Given the description of an element on the screen output the (x, y) to click on. 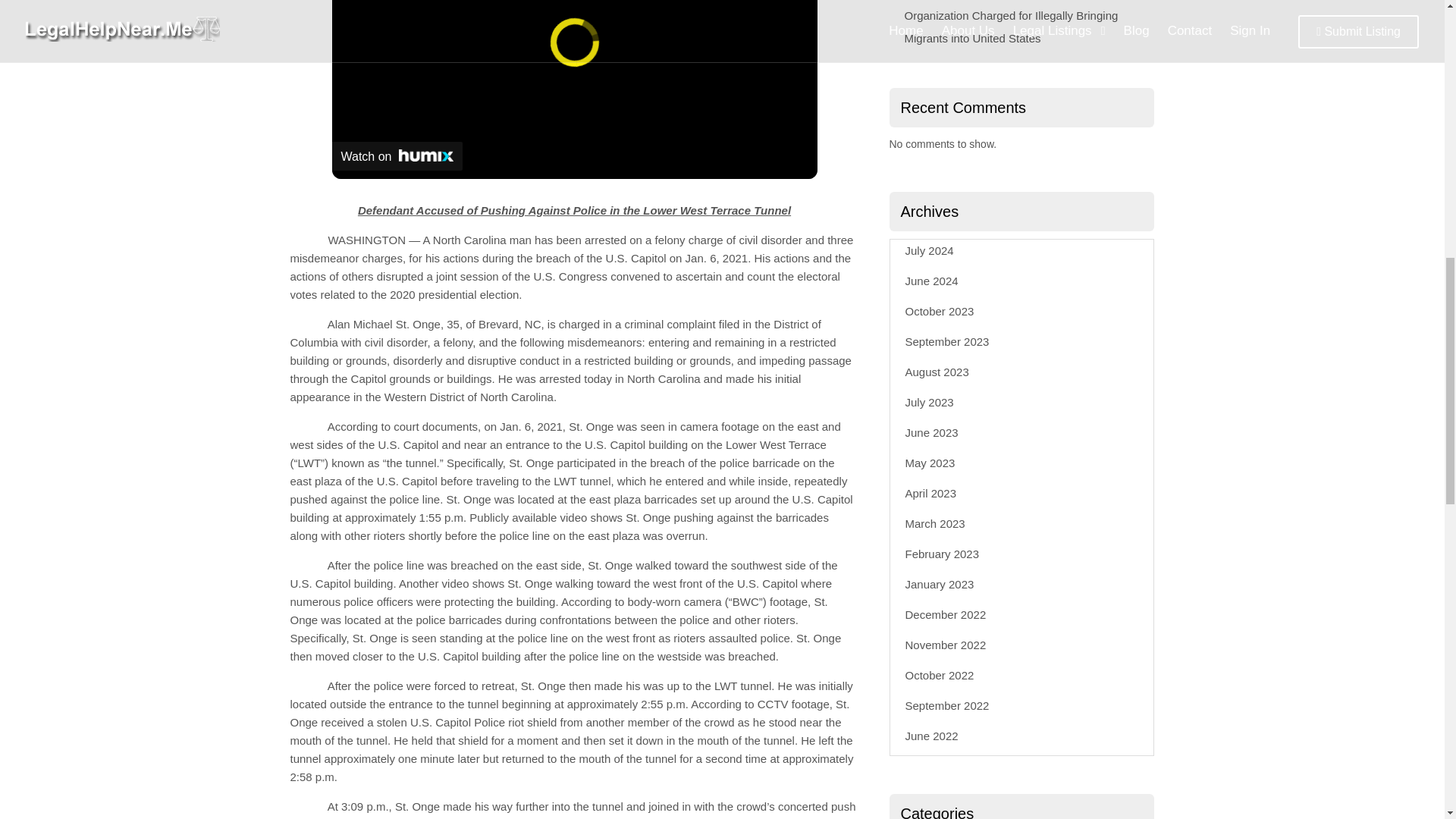
September 2023 (947, 341)
August 2023 (937, 371)
March 2023 (935, 522)
October 2023 (939, 310)
July 2023 (929, 401)
June 2023 (931, 431)
December 2022 (946, 614)
May 2023 (930, 462)
July 2024 (929, 250)
Watch on (397, 155)
January 2023 (939, 584)
April 2023 (930, 492)
February 2023 (942, 553)
June 2024 (931, 280)
